Given the description of an element on the screen output the (x, y) to click on. 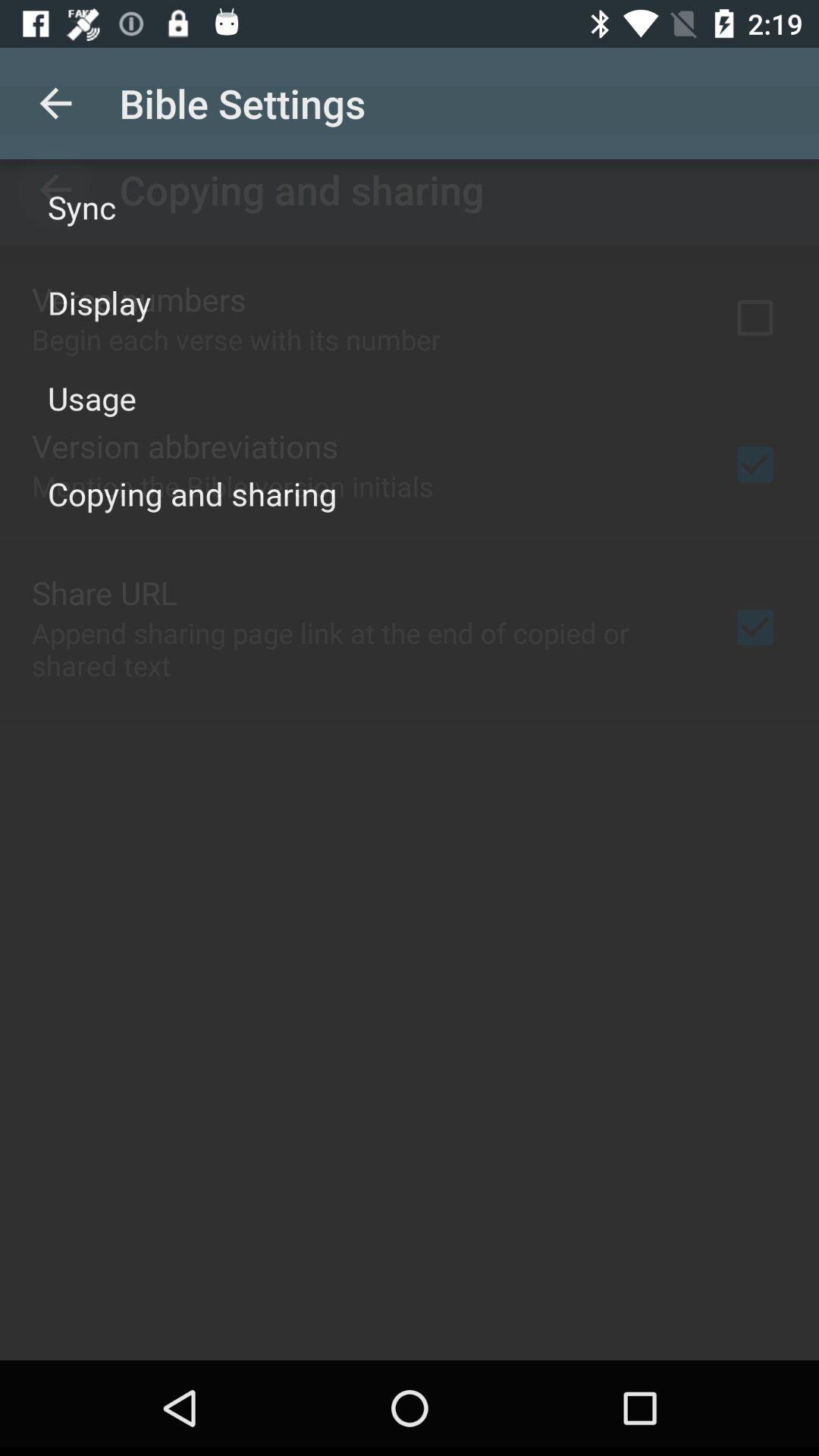
scroll to usage icon (91, 397)
